Given the description of an element on the screen output the (x, y) to click on. 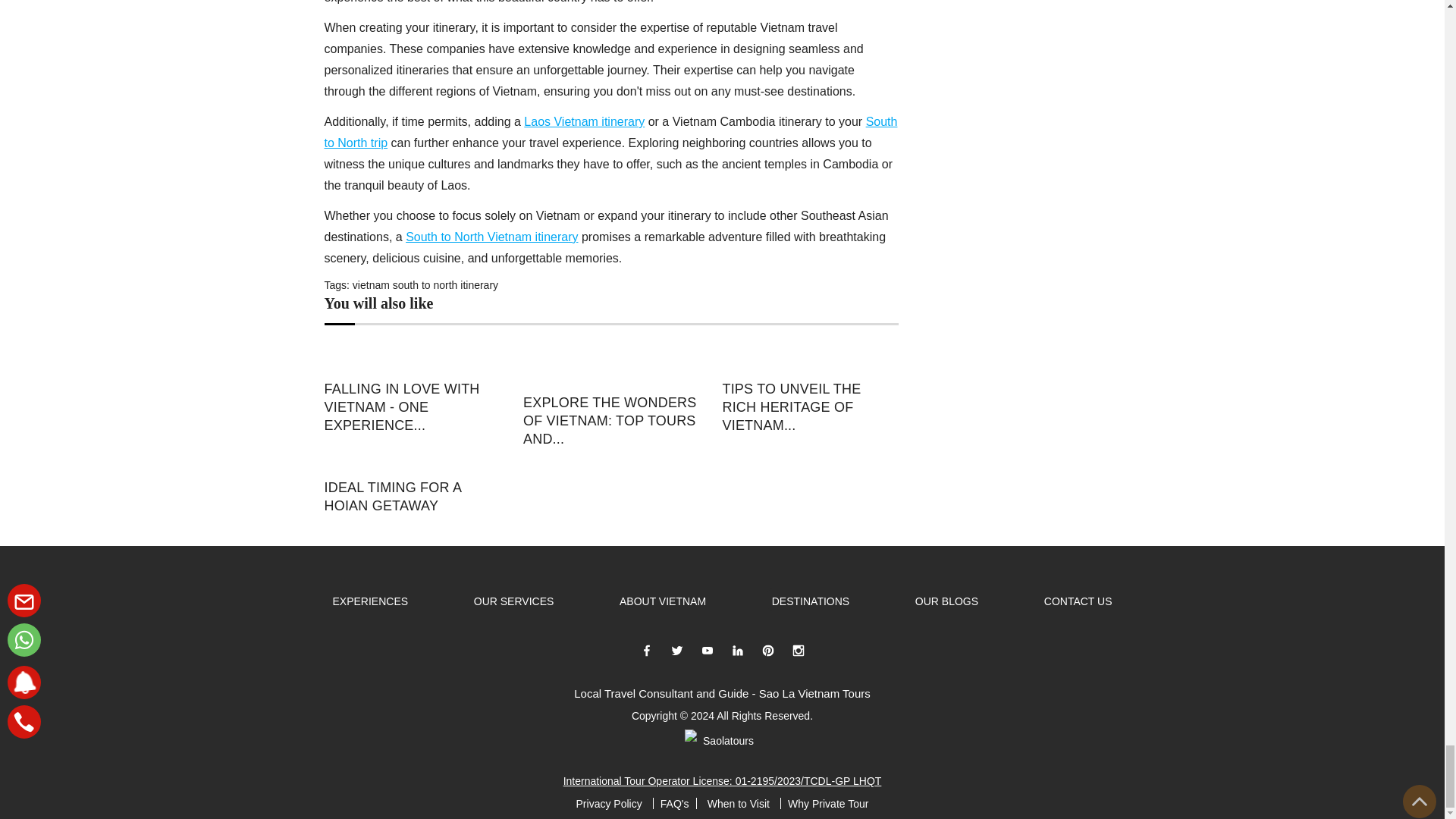
Falling in Love with Vietnam - One Experience at a Time (412, 407)
vietnam south to north itinerary (424, 285)
Falling in Love with Vietnam - One Experience at a Time (412, 357)
Ideal Timing For a Hoian Getaway (412, 496)
Ideal Timing For a Hoian Getaway (412, 463)
